Given the description of an element on the screen output the (x, y) to click on. 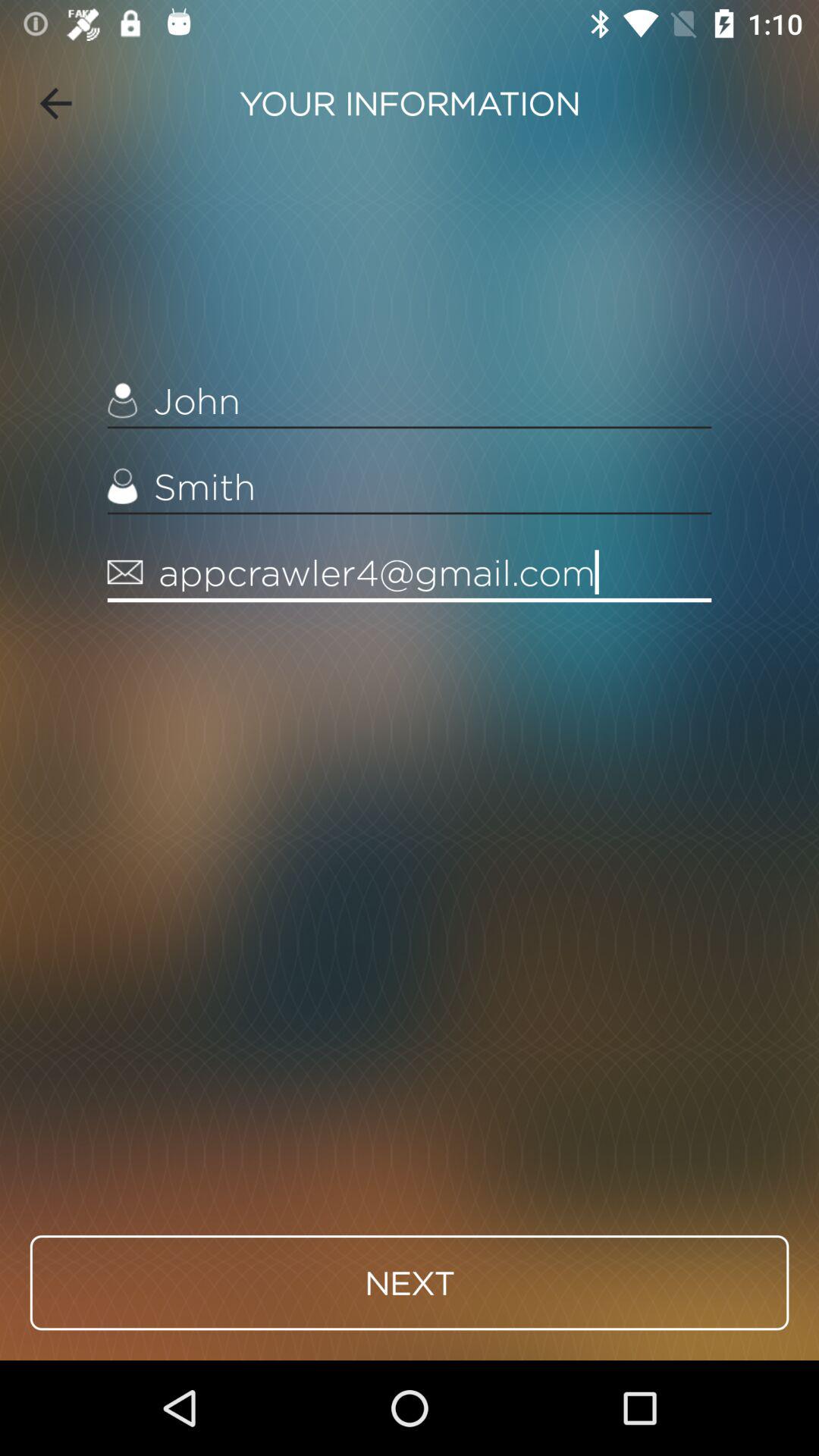
scroll until john icon (409, 401)
